Given the description of an element on the screen output the (x, y) to click on. 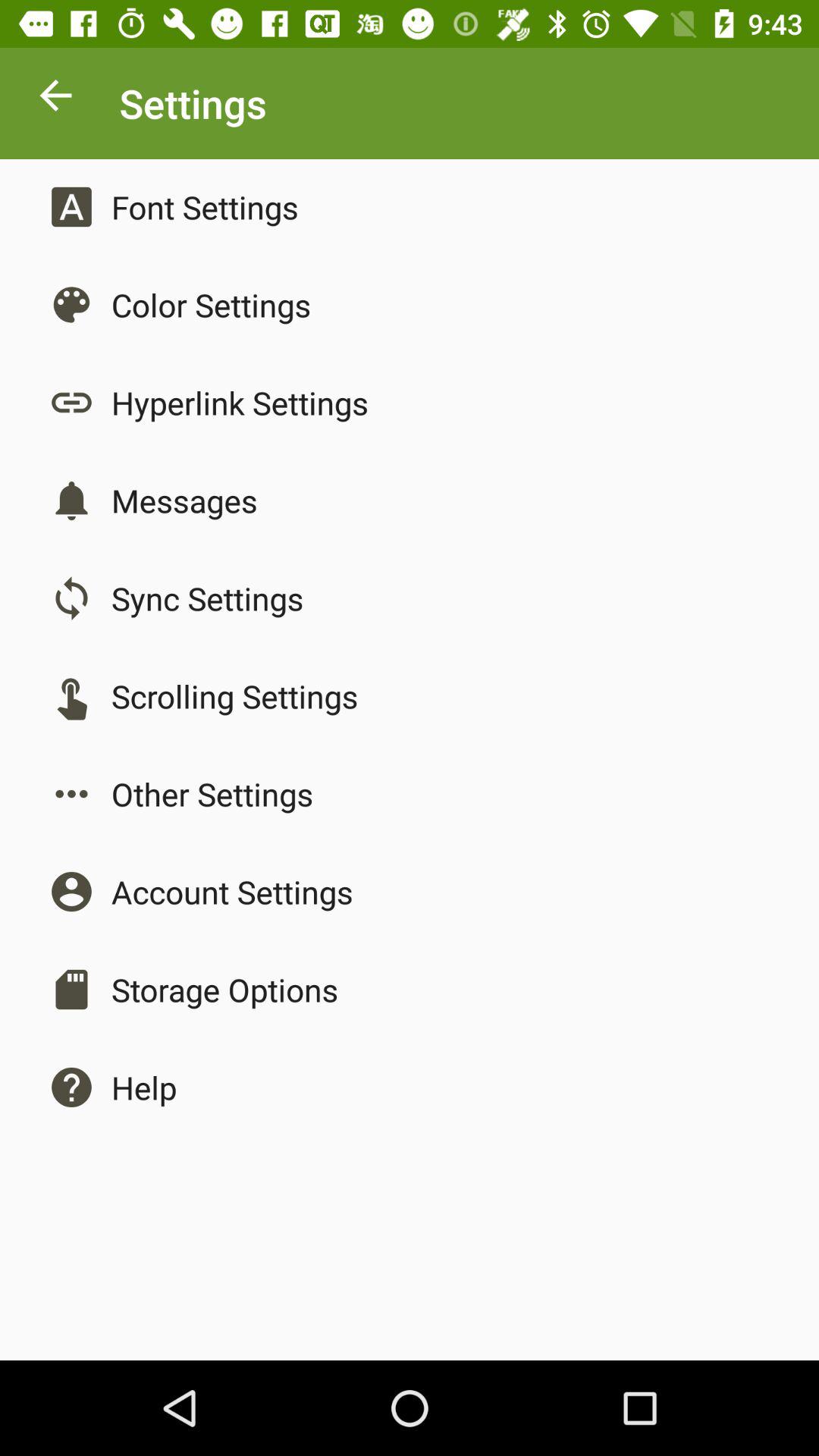
press the help (143, 1087)
